Given the description of an element on the screen output the (x, y) to click on. 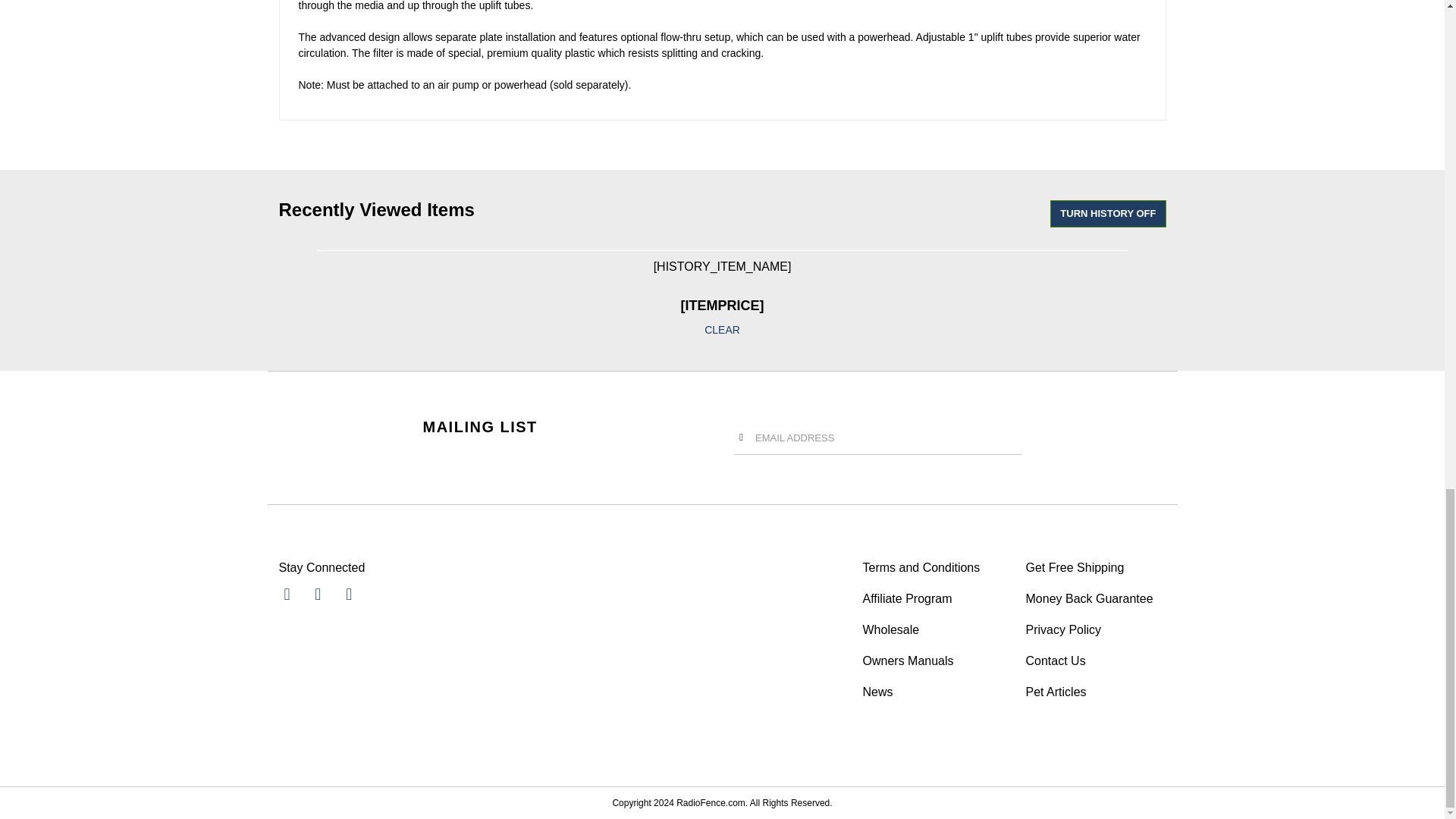
Follow Us on Pinterest (348, 593)
Like Us on Facebook (287, 593)
Follow Us on Twitter (317, 593)
